Given the description of an element on the screen output the (x, y) to click on. 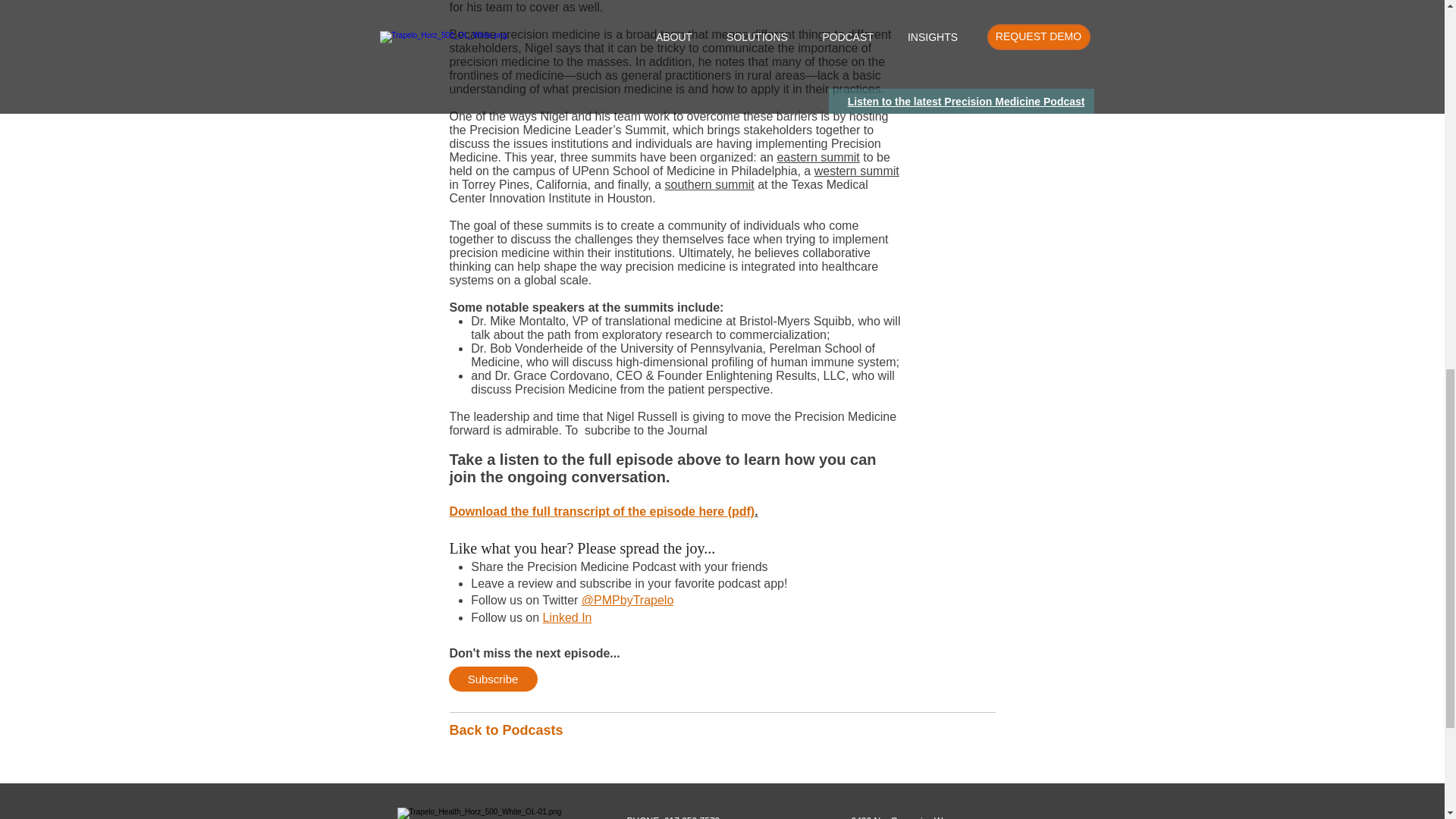
southern summit (708, 184)
Subscribe (492, 678)
Linked In (567, 617)
eastern summit (817, 156)
western summit (856, 170)
